Given the description of an element on the screen output the (x, y) to click on. 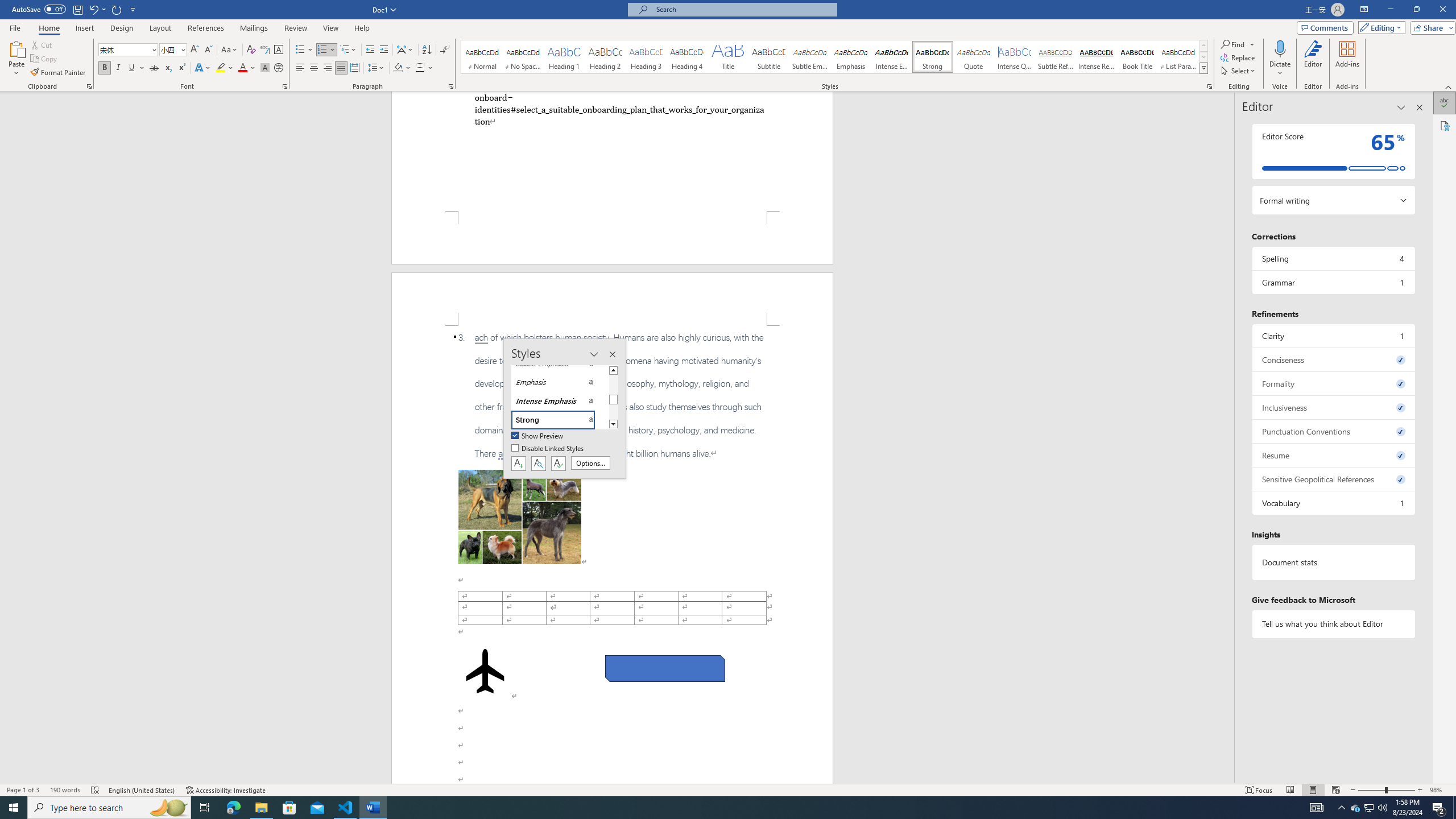
Intense Quote (1014, 56)
Formality, 0 issues. Press space or enter to review items. (1333, 383)
Accessibility (1444, 125)
